Given the description of an element on the screen output the (x, y) to click on. 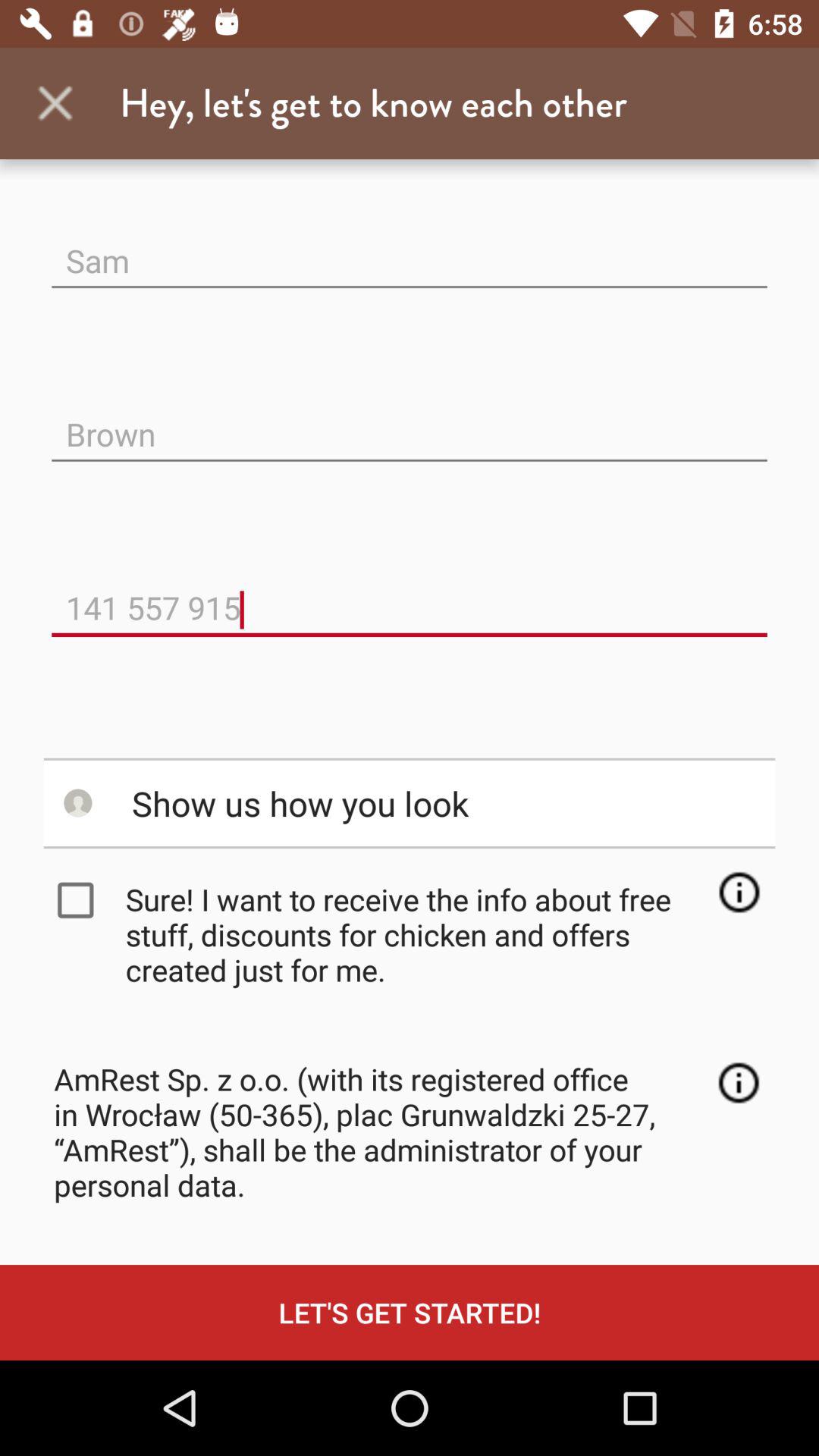
open information (738, 892)
